Given the description of an element on the screen output the (x, y) to click on. 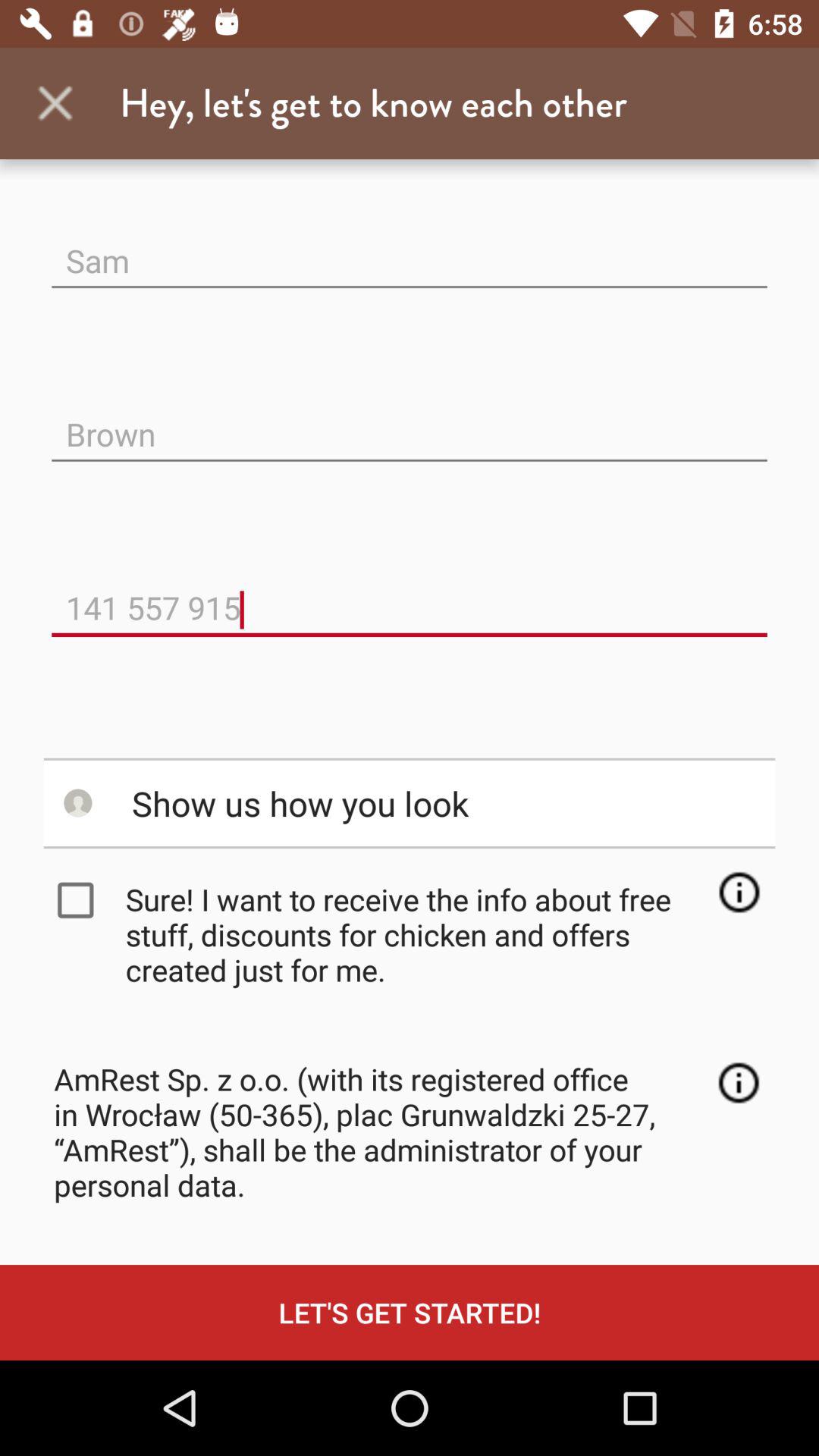
open information (738, 892)
